Given the description of an element on the screen output the (x, y) to click on. 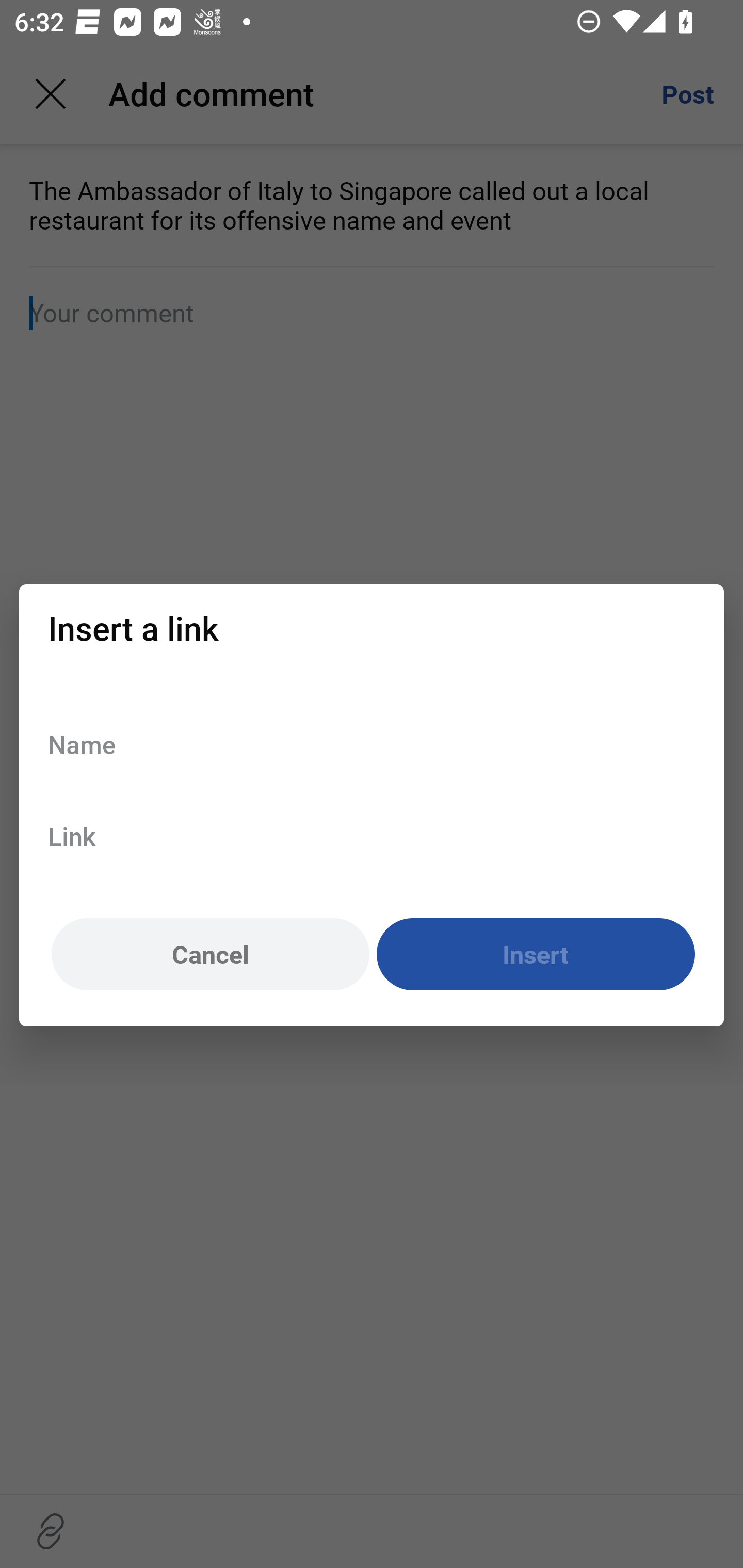
Name (371, 743)
Link (371, 835)
Cancel (210, 954)
Insert (535, 954)
